Given the description of an element on the screen output the (x, y) to click on. 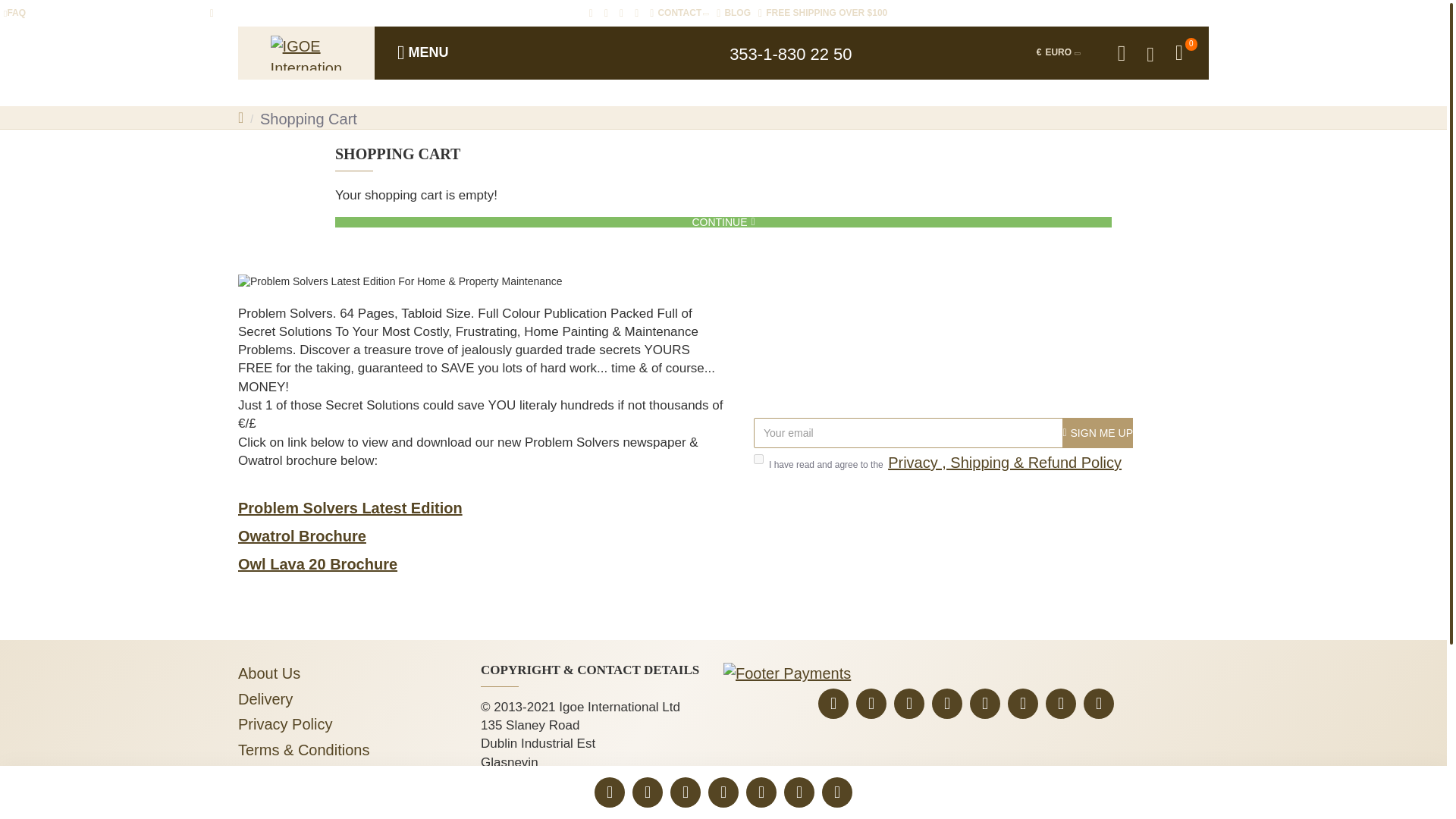
1 (758, 459)
FAQ (14, 13)
IGOE International (306, 53)
Twitter (871, 703)
FAQ (14, 13)
Instagram (984, 703)
CONTACT (679, 13)
Facebook (908, 703)
TikTok (1022, 703)
MENU (428, 52)
YouTube (946, 703)
BLOG (733, 13)
LinkTree Igoe (833, 703)
